Given the description of an element on the screen output the (x, y) to click on. 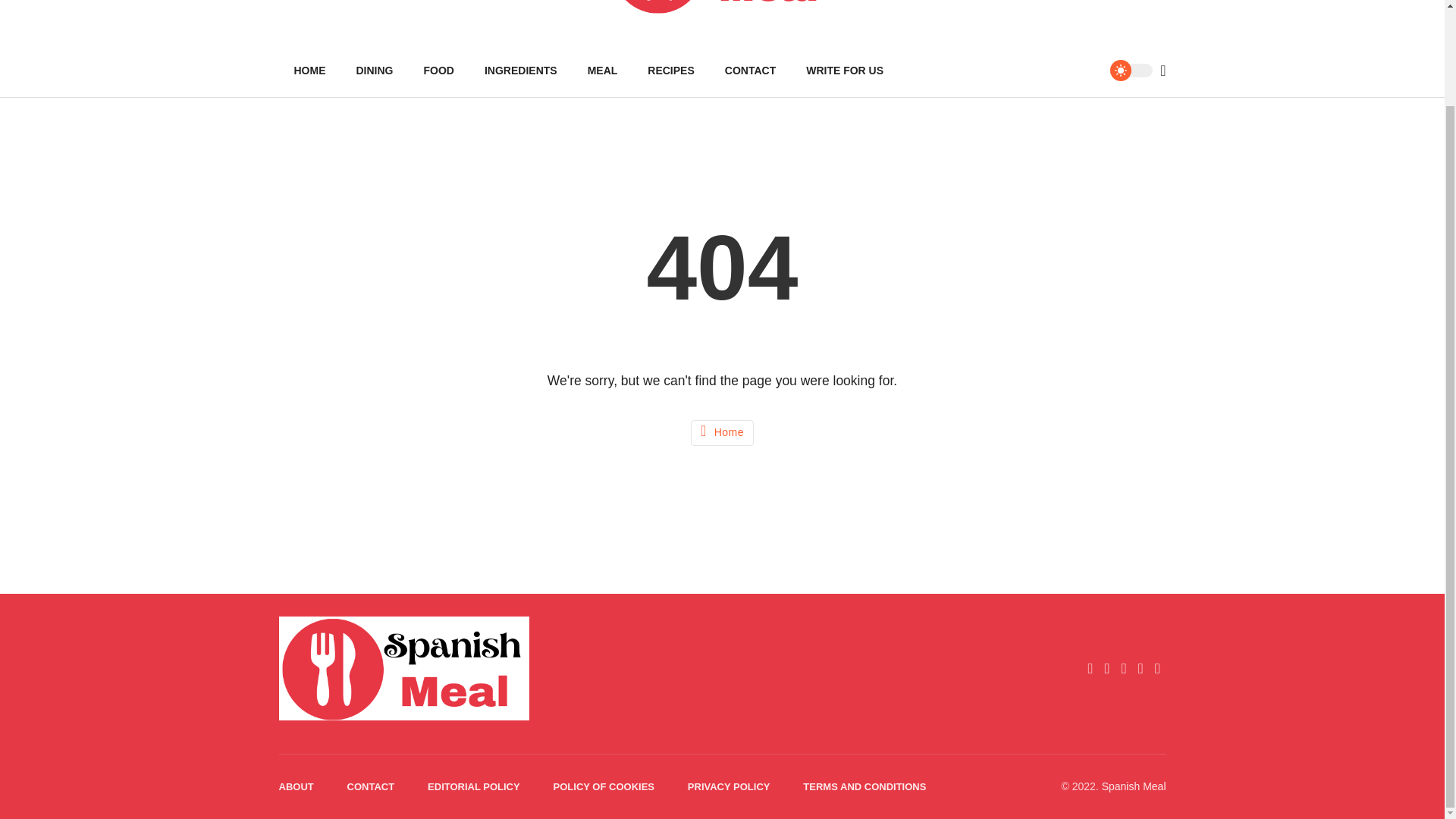
CONTACT (750, 70)
TERMS AND CONDITIONS (864, 786)
CONTACT (370, 786)
ABOUT (296, 786)
HOME (309, 70)
MEAL (602, 70)
Home (722, 432)
DINING (374, 70)
FOOD (437, 70)
EDITORIAL POLICY (473, 786)
Spanish Meal (1134, 786)
WRITE FOR US (844, 70)
PRIVACY POLICY (728, 786)
RECIPES (670, 70)
INGREDIENTS (520, 70)
